Given the description of an element on the screen output the (x, y) to click on. 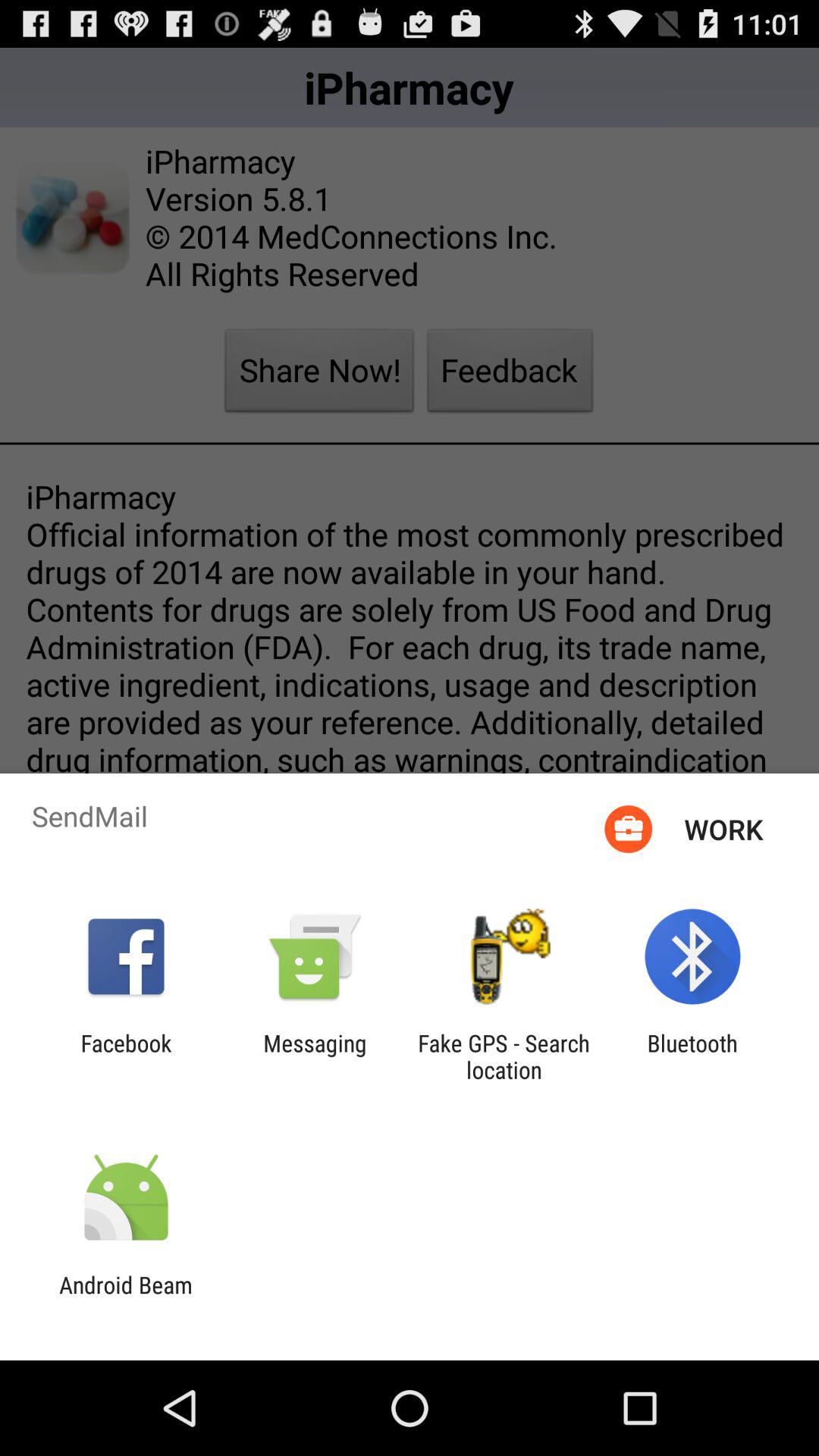
turn off messaging app (314, 1056)
